Given the description of an element on the screen output the (x, y) to click on. 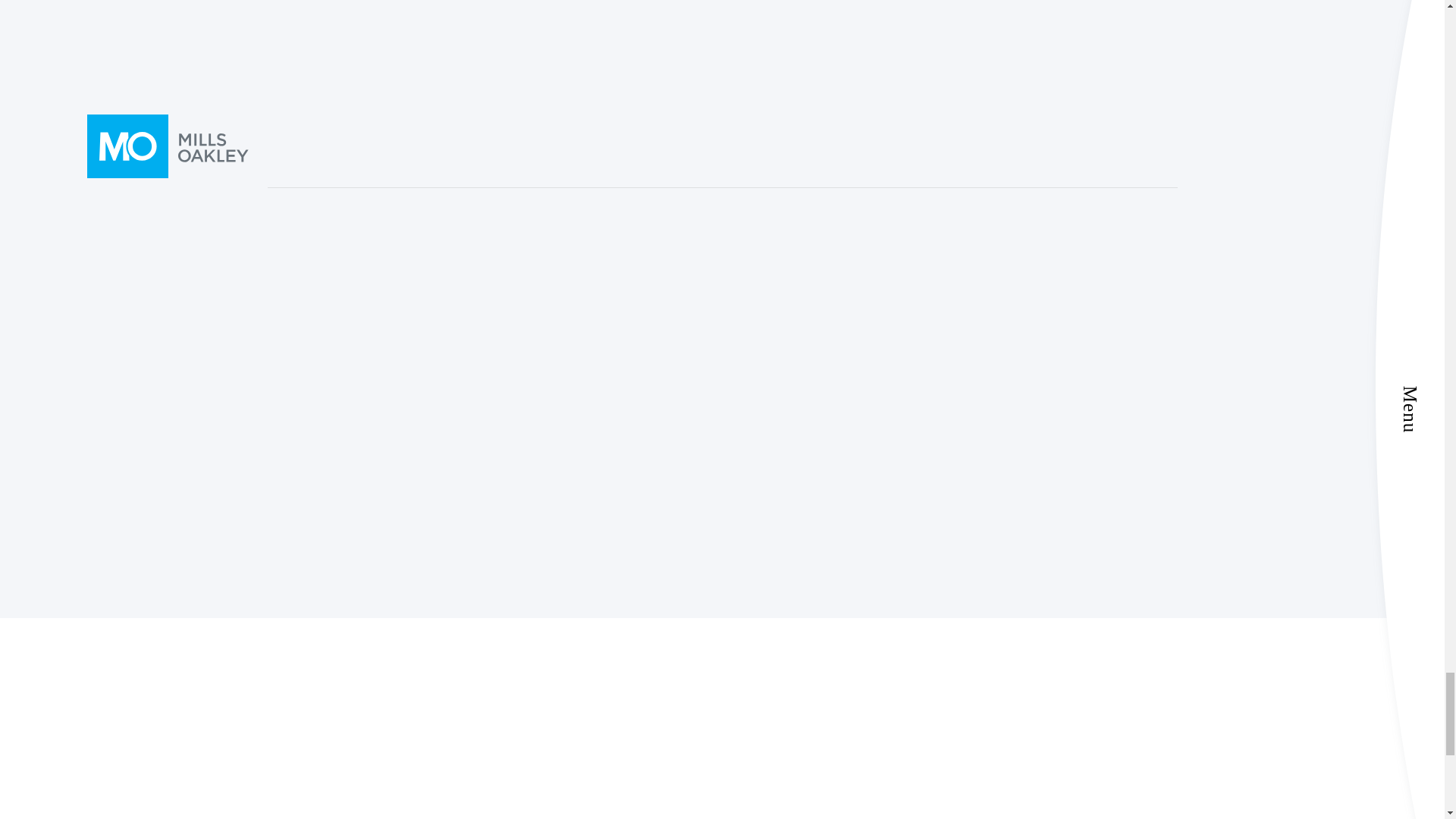
Join Now (950, 535)
